Given the description of an element on the screen output the (x, y) to click on. 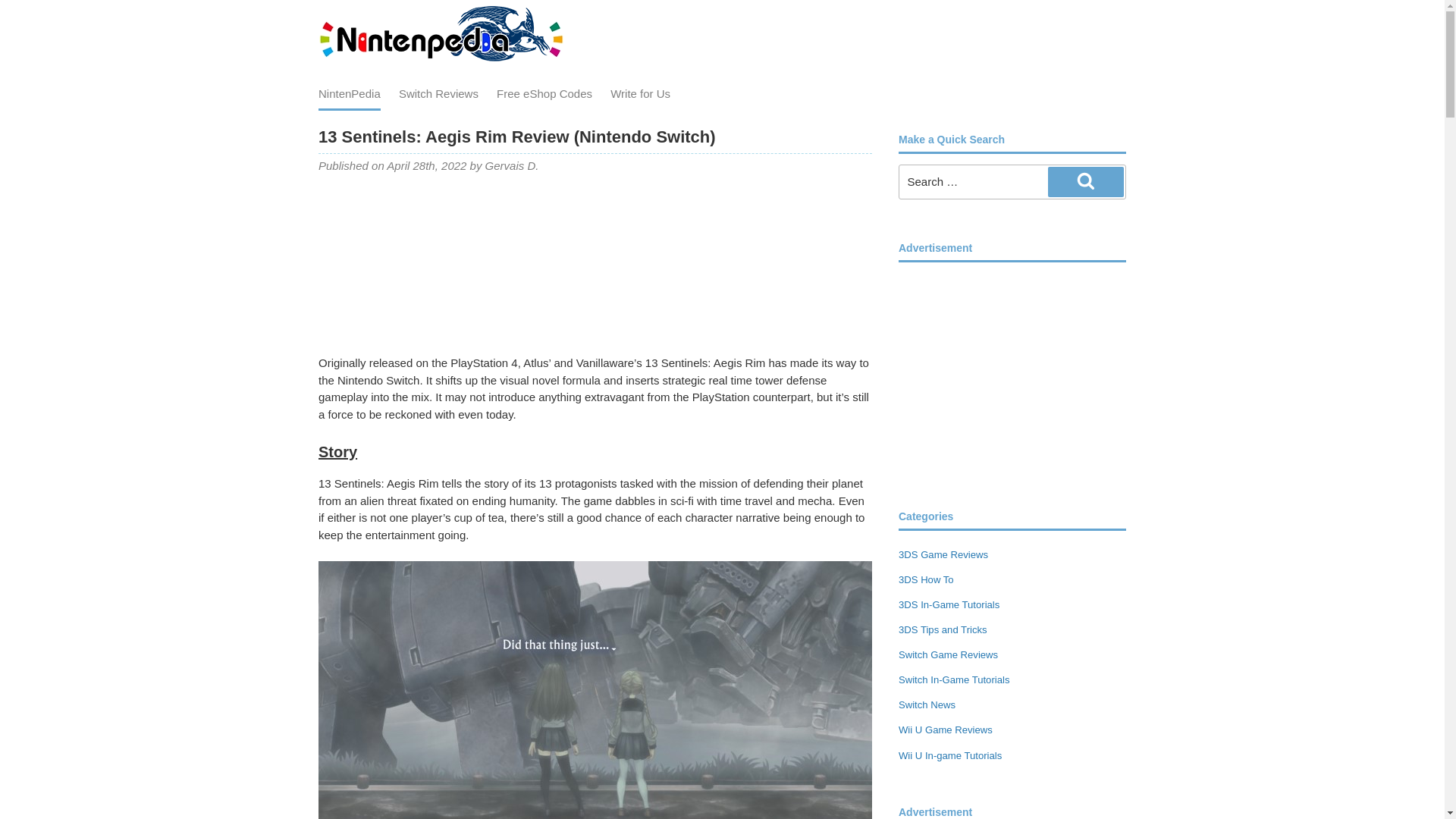
Wii U Game Reviews (945, 729)
Wii U In-game Tutorials (949, 755)
Free eShop Codes (544, 93)
Switch Reviews (438, 93)
3DS How To (925, 579)
3DS In-Game Tutorials (948, 604)
NintenPedia (349, 94)
Write for Us (639, 93)
Switch Game Reviews (947, 654)
Search (1086, 182)
